Given the description of an element on the screen output the (x, y) to click on. 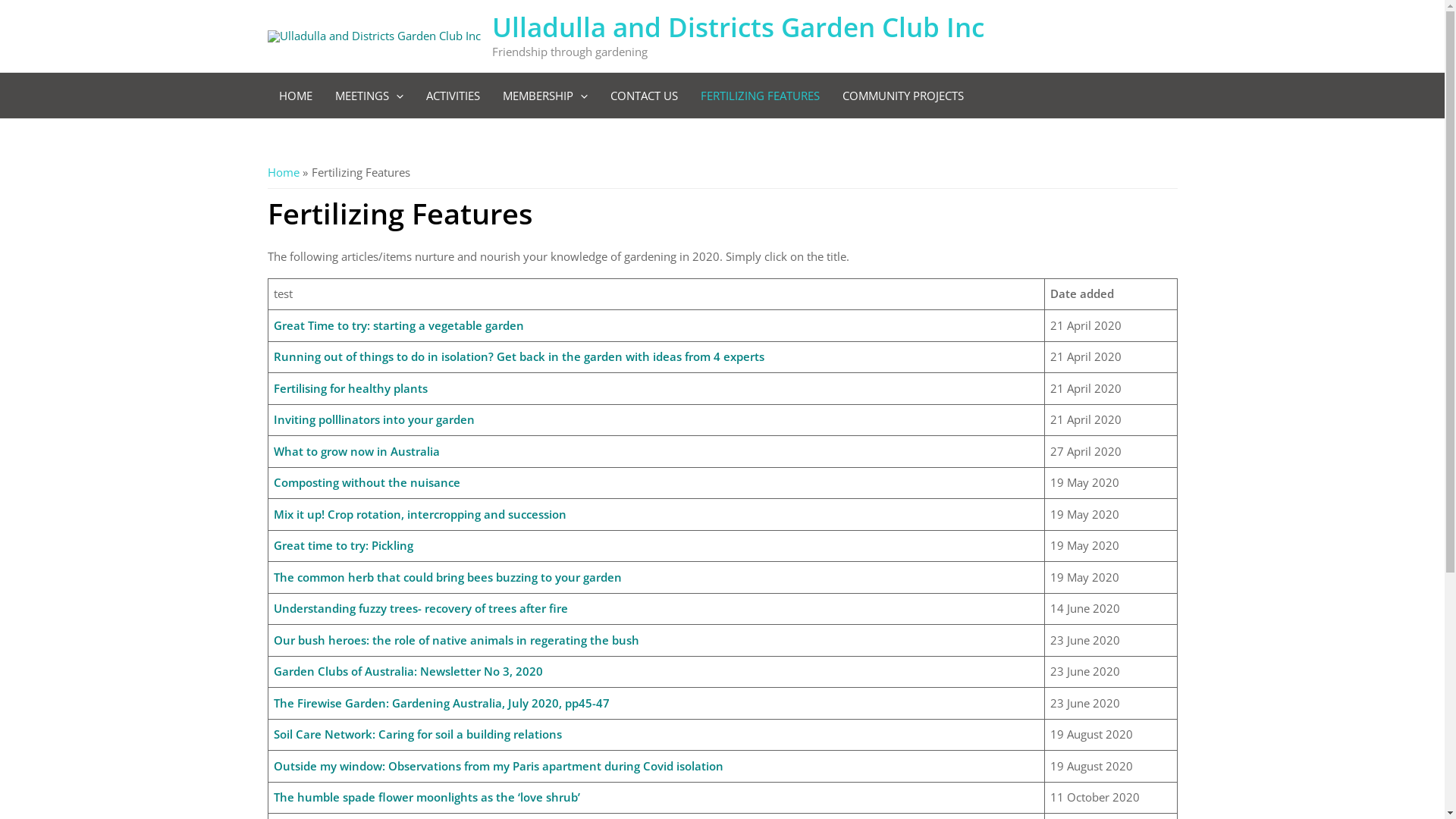
The common herb that could bring bees buzzing to your garden Element type: text (447, 575)
HOME Element type: text (294, 95)
MEETINGS Element type: text (368, 95)
CONTACT US Element type: text (644, 95)
MEMBERSHIP Element type: text (545, 95)
Garden Clubs of Australia: Newsletter No 3, 2020 Element type: text (407, 670)
FERTILIZING FEATURES Element type: text (759, 95)
Home Element type: text (282, 170)
Mix it up! Crop rotation, intercropping and succession Element type: text (419, 513)
Understanding fuzzy trees- recovery of trees after fire Element type: text (420, 607)
COMMUNITY PROJECTS Element type: text (903, 95)
Great Time to try: starting a vegetable garden Element type: text (398, 324)
Fertilising for healthy plants Element type: text (350, 387)
Composting without the nuisance Element type: text (366, 481)
ACTIVITIES Element type: text (452, 95)
Great time to try: Pickling Element type: text (343, 544)
Inviting polllinators into your garden Element type: text (373, 418)
Soil Care Network: Caring for soil a building relations Element type: text (417, 733)
The Firewise Garden: Gardening Australia, July 2020, pp45-47 Element type: text (441, 701)
Ulladulla and Districts Garden Club Inc Element type: text (737, 26)
What to grow now in Australia Element type: text (356, 450)
